Given the description of an element on the screen output the (x, y) to click on. 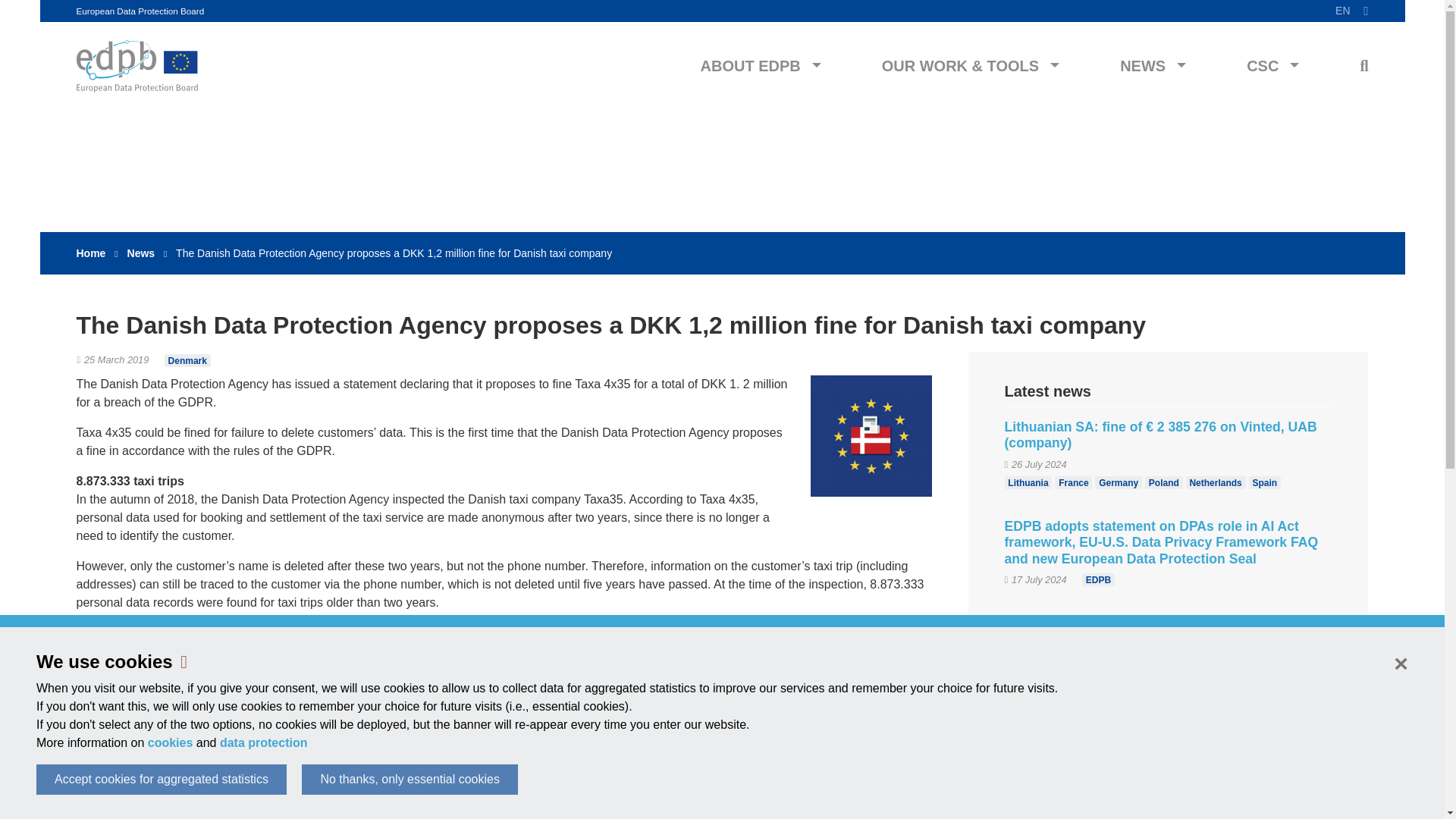
Skip to main content (721, 1)
European Data Protection Board (139, 10)
European Data Protection Board (139, 10)
EN (1351, 10)
ABOUT EDPB (761, 65)
